Given the description of an element on the screen output the (x, y) to click on. 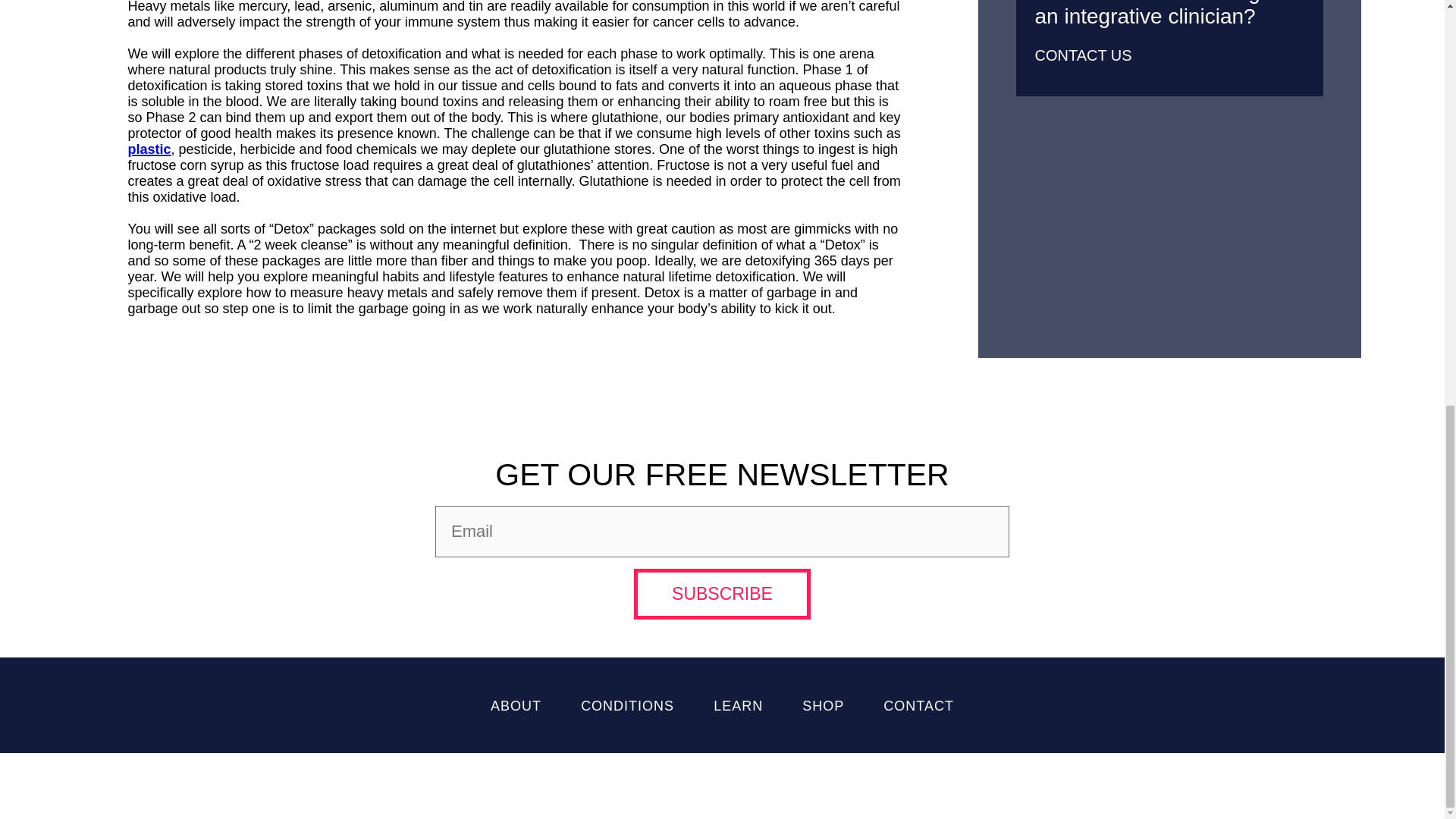
CONDITIONS (627, 705)
CONTACT (918, 705)
CONTACT US (1083, 54)
LEARN (737, 705)
Subscribe (721, 593)
Subscribe (721, 593)
plastic (149, 149)
ABOUT (515, 705)
SHOP (823, 705)
